Given the description of an element on the screen output the (x, y) to click on. 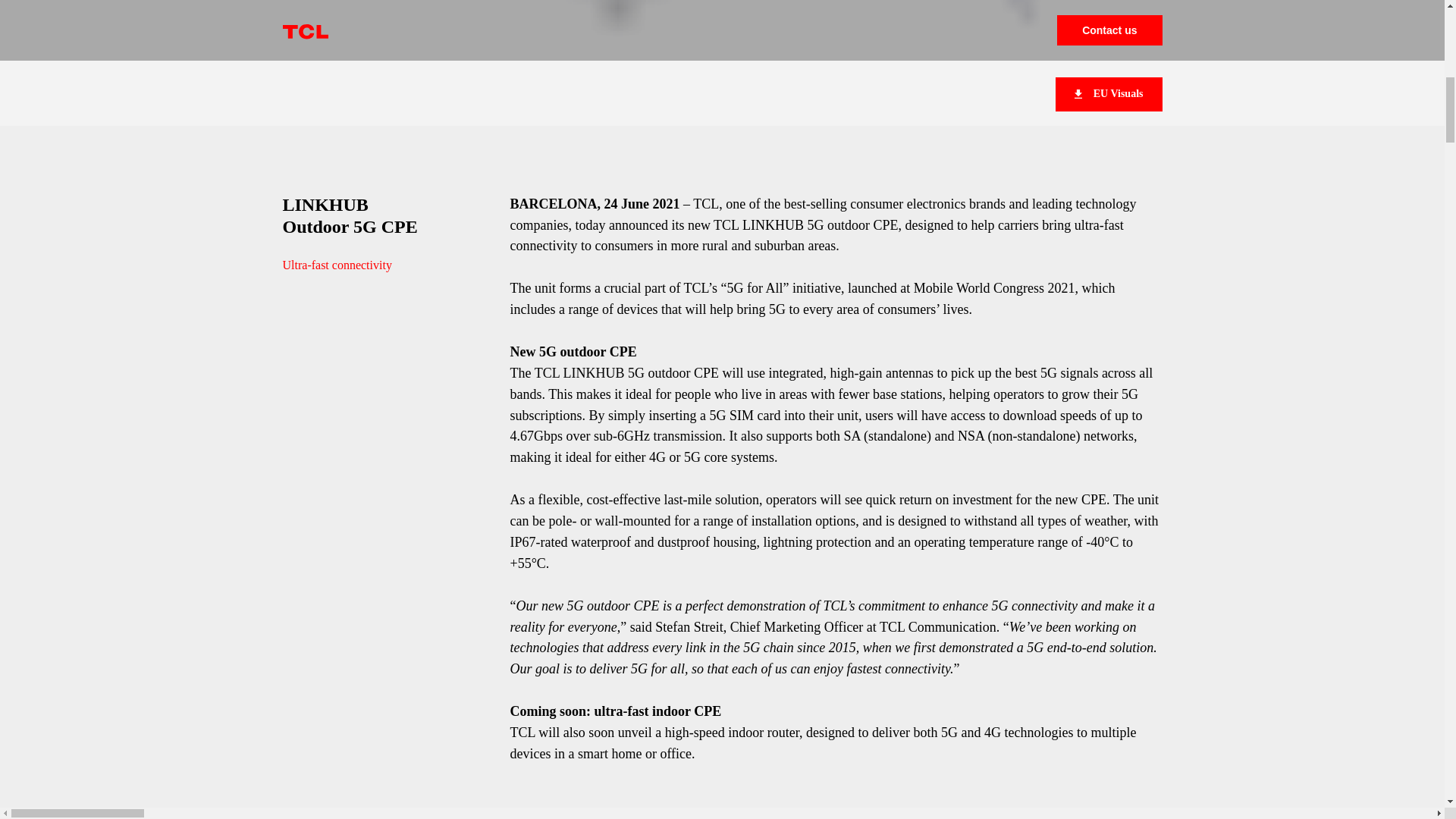
EU Visuals (1108, 93)
